Given the description of an element on the screen output the (x, y) to click on. 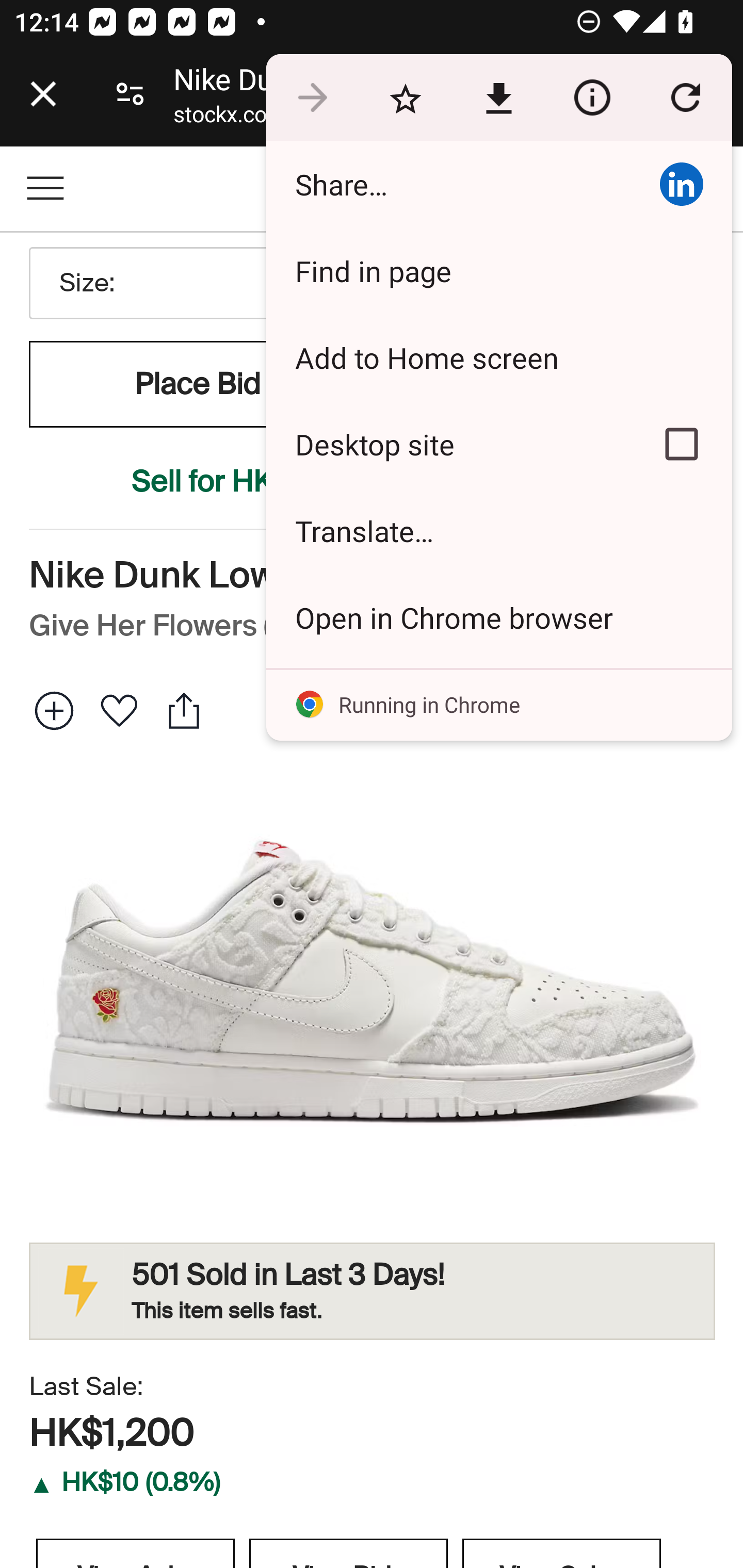
Go forward (311, 97)
Bookmark (404, 97)
Download this page (498, 97)
View site information (591, 97)
Stop refreshing (684, 97)
Share… (447, 184)
Share via Share in a post (680, 184)
Find in page (498, 270)
Add to Home screen (498, 357)
Desktop site Turn on Request desktop site (447, 444)
Translate… (498, 530)
Open in Chrome browser (498, 616)
